Given the description of an element on the screen output the (x, y) to click on. 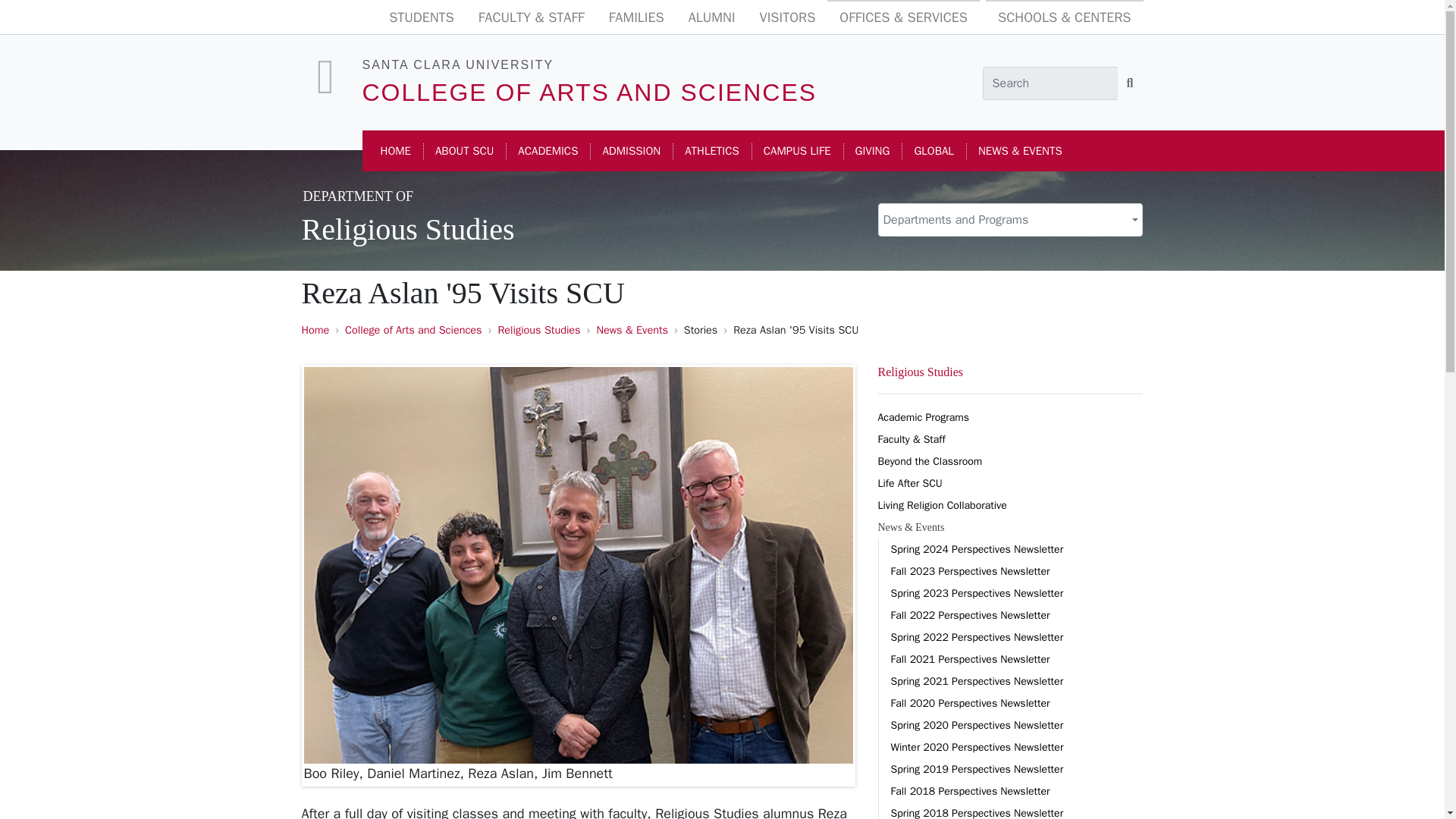
GIVING (872, 151)
CAMPUS LIFE (797, 151)
ABOUT SCU (464, 151)
ATHLETICS (711, 151)
Academic Programs (1009, 417)
SANTA CLARA UNIVERSITY (458, 64)
Home (315, 329)
FAMILIES (636, 17)
Religious Studies (538, 329)
HOME (395, 151)
ALUMNI (712, 17)
ADMISSION (630, 151)
Beyond the Classroom (1009, 461)
GLOBAL (933, 151)
VISITORS (788, 17)
